Given the description of an element on the screen output the (x, y) to click on. 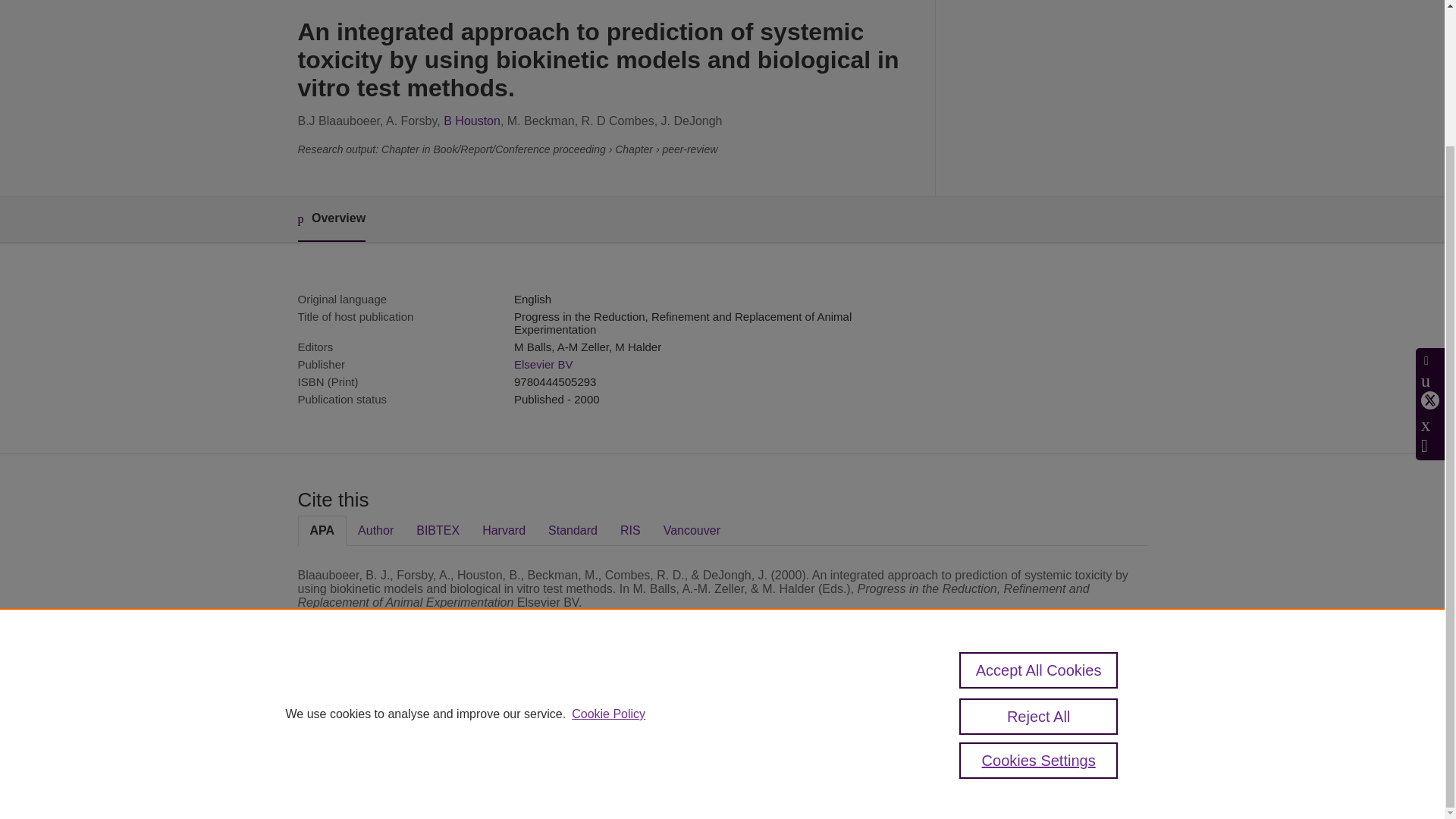
Scopus (394, 708)
Elsevier B.V. (506, 728)
use of cookies (796, 760)
Elsevier BV (543, 364)
Cookies Settings (1038, 592)
Reject All (1038, 548)
B Houston (472, 120)
Pure (362, 708)
Cookie Policy (608, 545)
Report vulnerability (1001, 760)
Overview (331, 219)
Cookies Settings (334, 781)
About web accessibility (1010, 740)
Accept All Cookies (1038, 502)
